Given the description of an element on the screen output the (x, y) to click on. 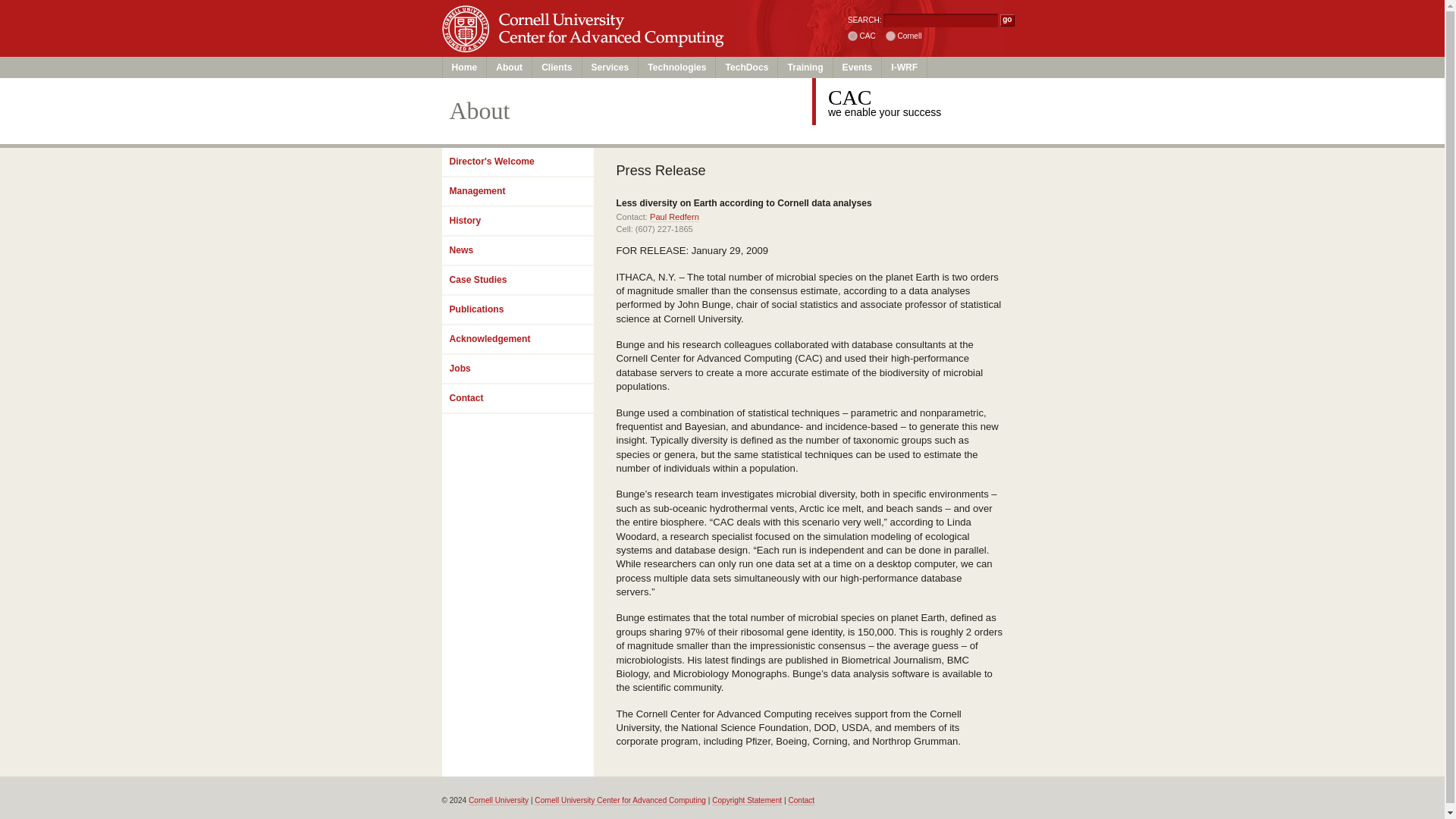
Acknowledgement (516, 339)
TechDocs (746, 66)
History (516, 221)
I-WRF (904, 66)
Publications (516, 310)
Cornell University (579, 14)
Case Studies (516, 280)
Training (804, 66)
www.cac.cornell.edu (852, 35)
Management (516, 192)
Director's Welcome (516, 162)
Copyright Statement (746, 800)
About (509, 66)
Technologies (677, 66)
go (1006, 20)
